Given the description of an element on the screen output the (x, y) to click on. 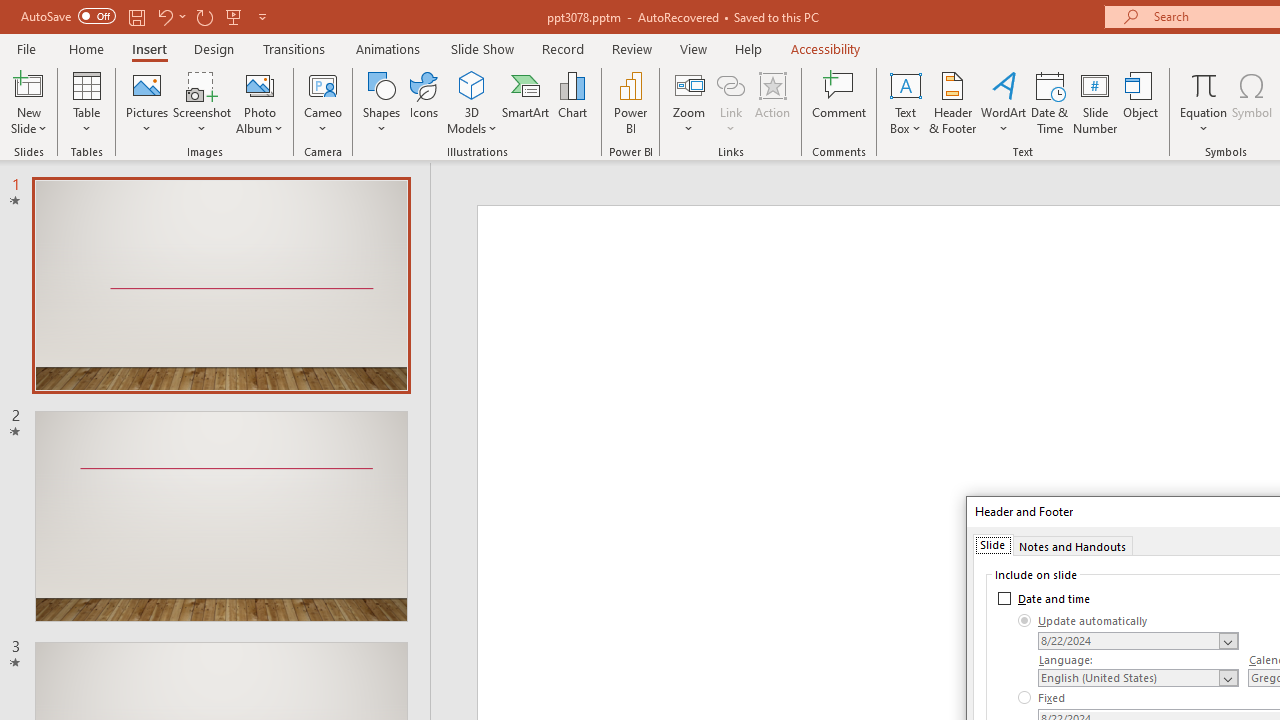
Power BI (630, 102)
Date and time (1044, 598)
Format Date and Time (1138, 641)
Header & Footer... (952, 102)
Draw Horizontal Text Box (905, 84)
WordArt (1004, 102)
SmartArt... (525, 102)
Slide Number (1095, 102)
